Given the description of an element on the screen output the (x, y) to click on. 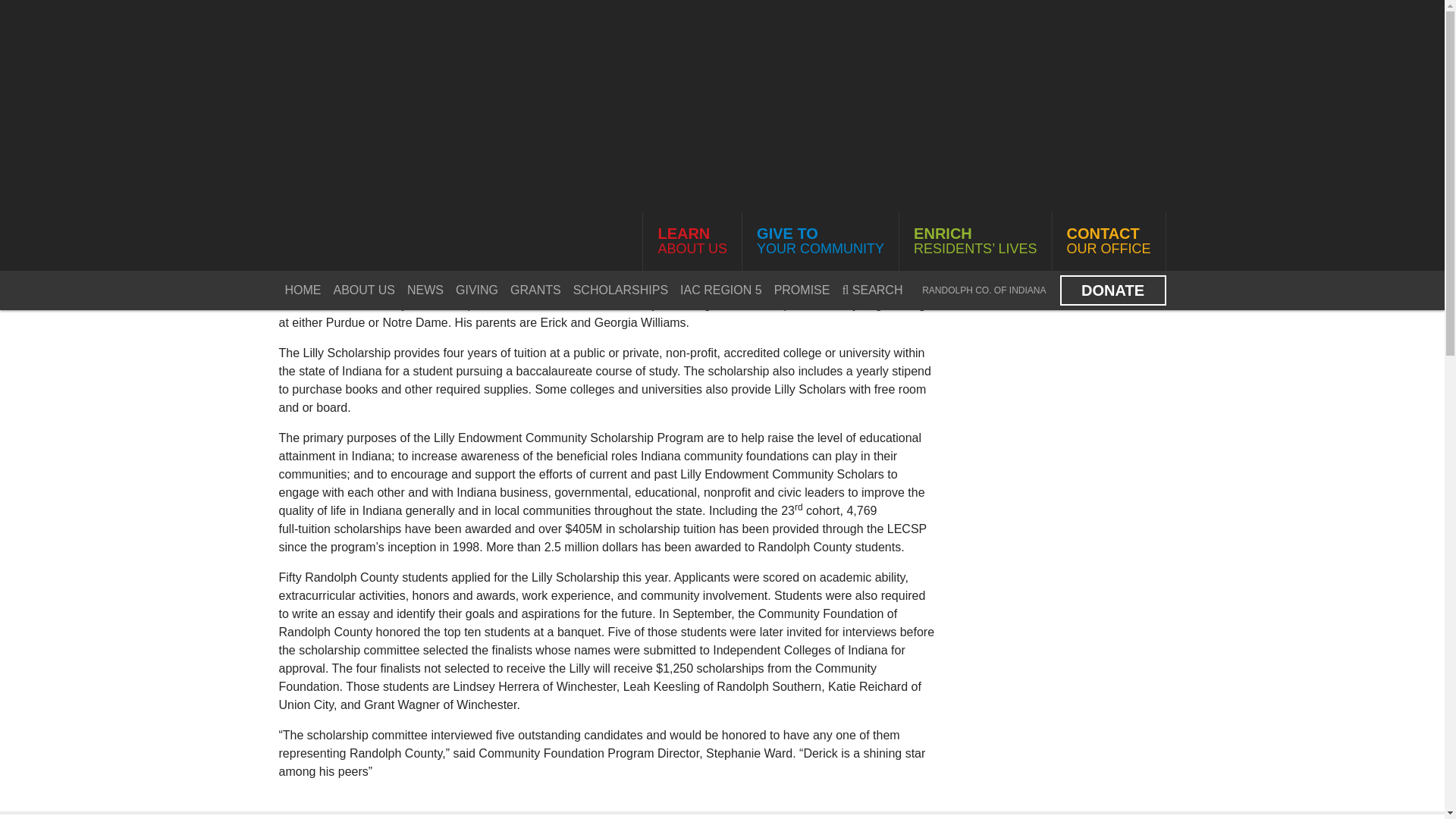
NEWS (425, 289)
SEARCH (871, 289)
DONATE (1107, 241)
GIVING (1112, 290)
SCHOLARSHIPS (476, 289)
HOME (620, 289)
PROMISE (692, 241)
GRANTS (303, 289)
